Given the description of an element on the screen output the (x, y) to click on. 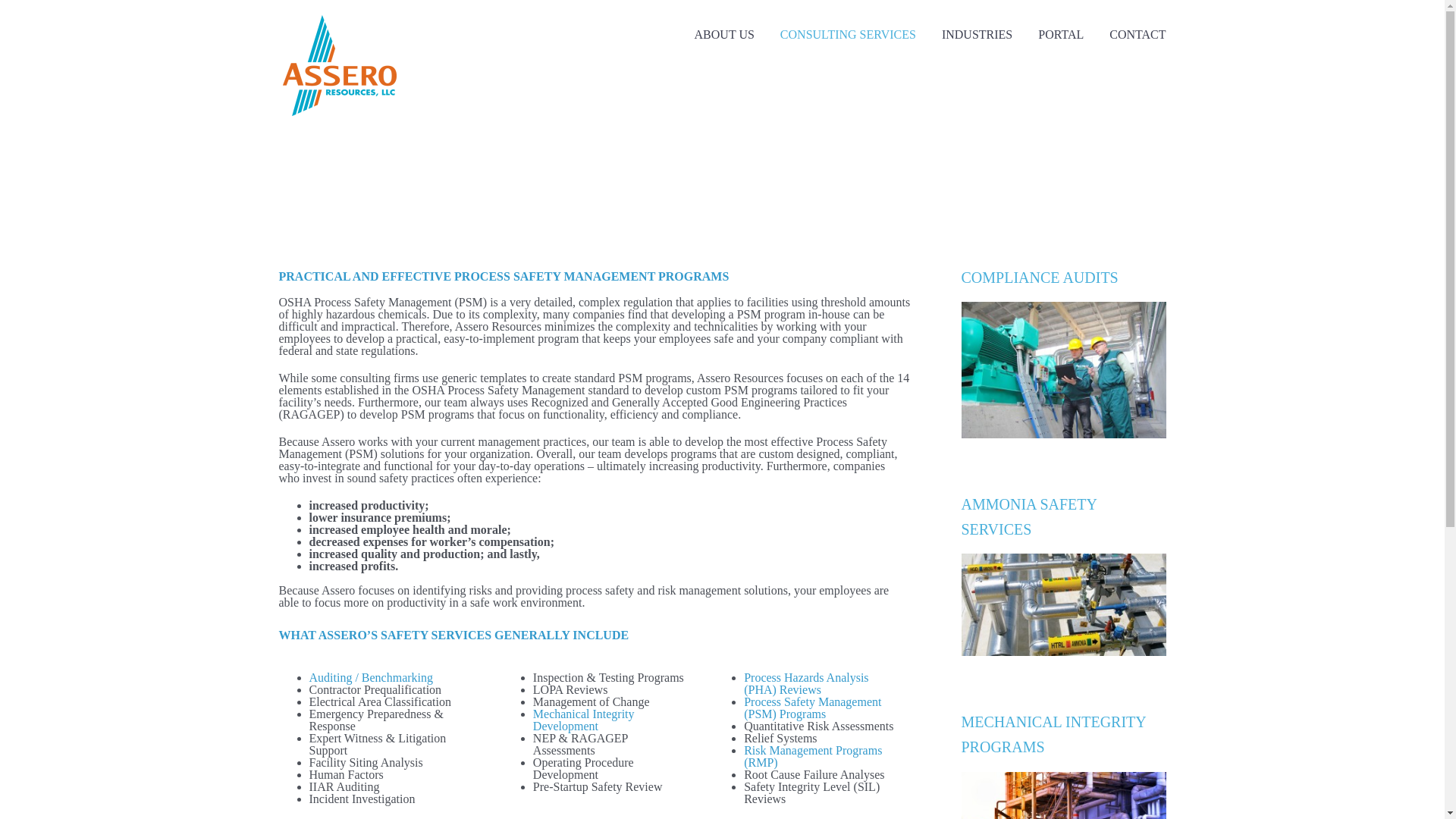
INDUSTRIES (976, 34)
PORTAL (1060, 34)
ABOUT US (723, 34)
Assero Resources LLC (339, 14)
Mechanical Integrity Development (583, 719)
CONTACT (1136, 34)
CONSULTING SERVICES (847, 34)
